Given the description of an element on the screen output the (x, y) to click on. 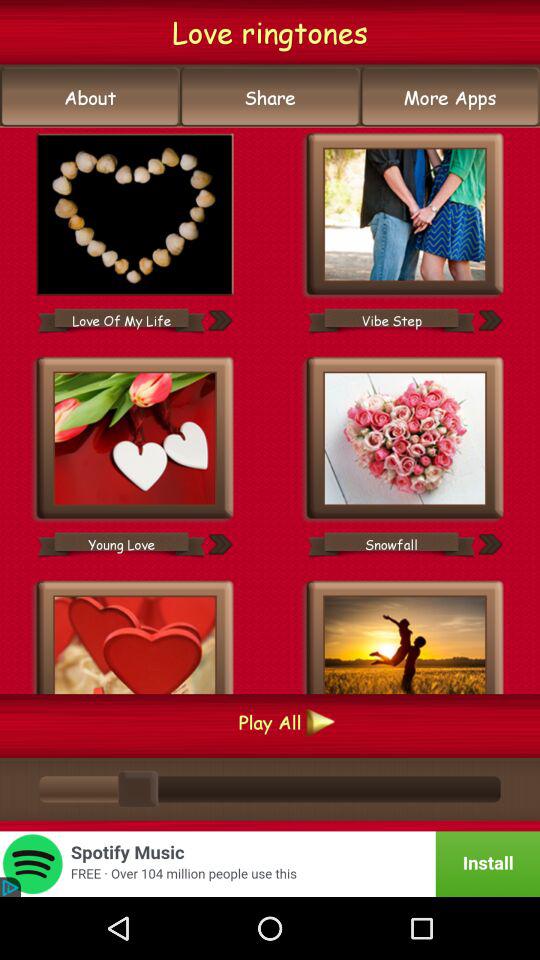
press icon next to share item (90, 97)
